Given the description of an element on the screen output the (x, y) to click on. 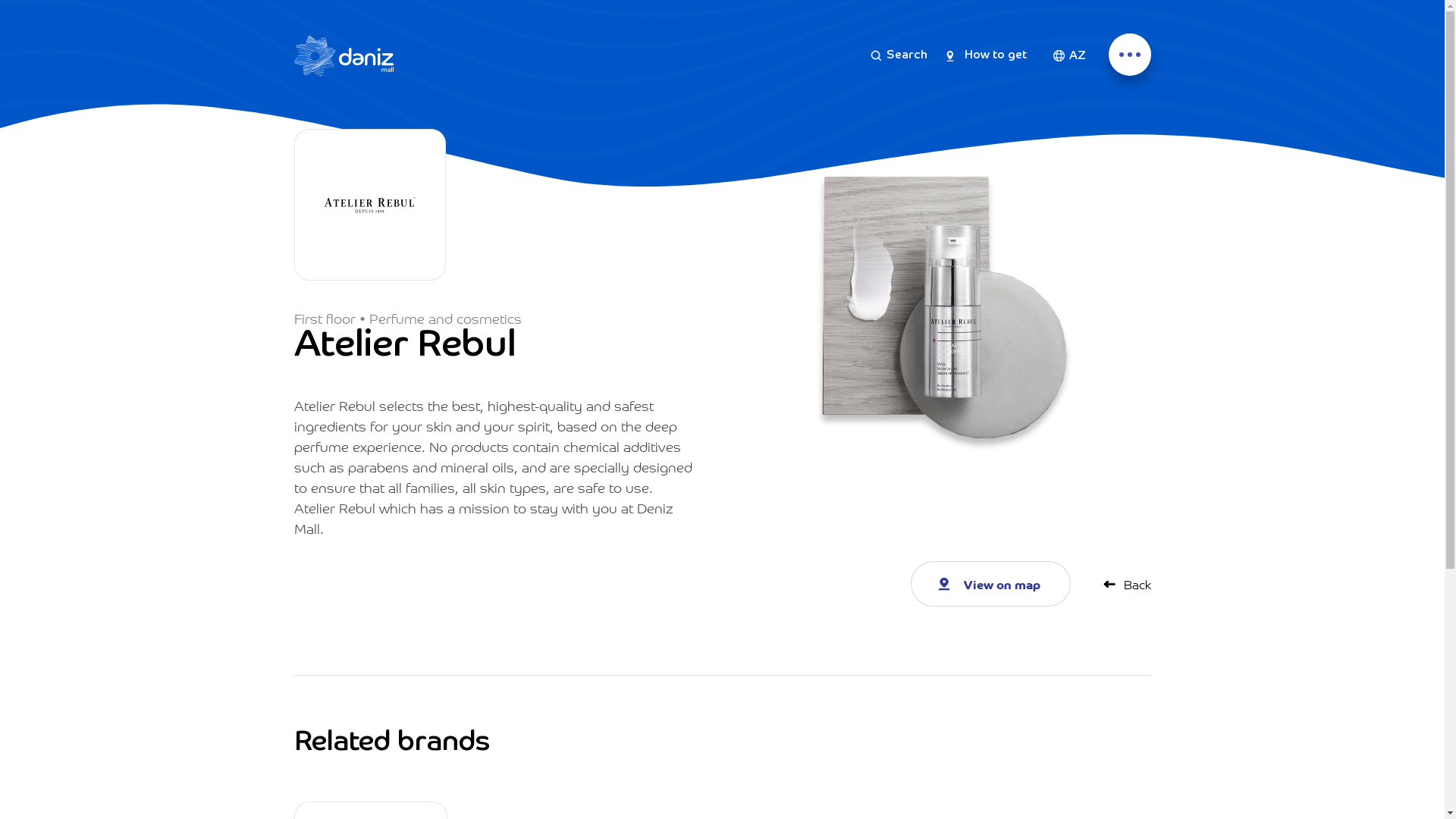
Search Element type: text (898, 55)
AZ Element type: text (1068, 55)
View on map Element type: text (990, 583)
How to get Element type: text (986, 55)
Back Element type: text (1125, 583)
